Given the description of an element on the screen output the (x, y) to click on. 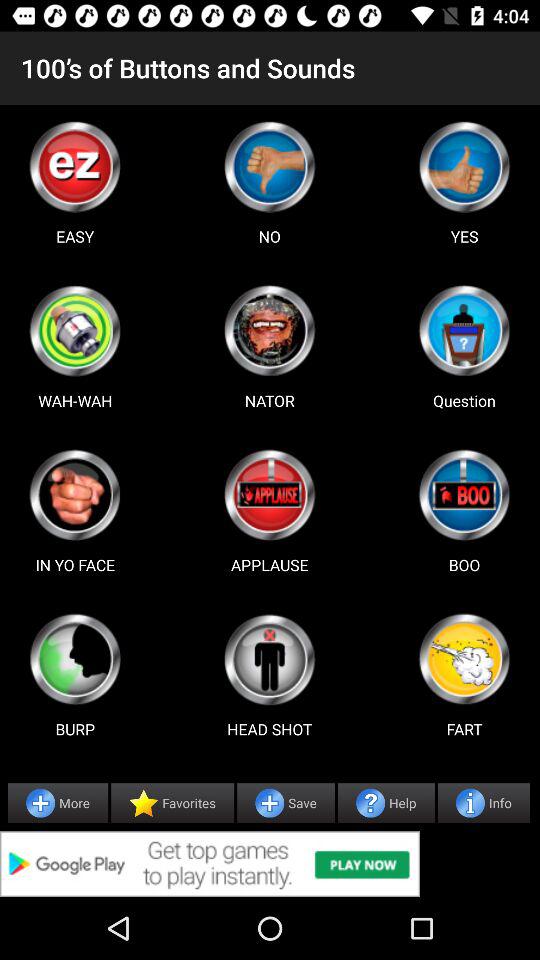
profile picture (464, 495)
